Given the description of an element on the screen output the (x, y) to click on. 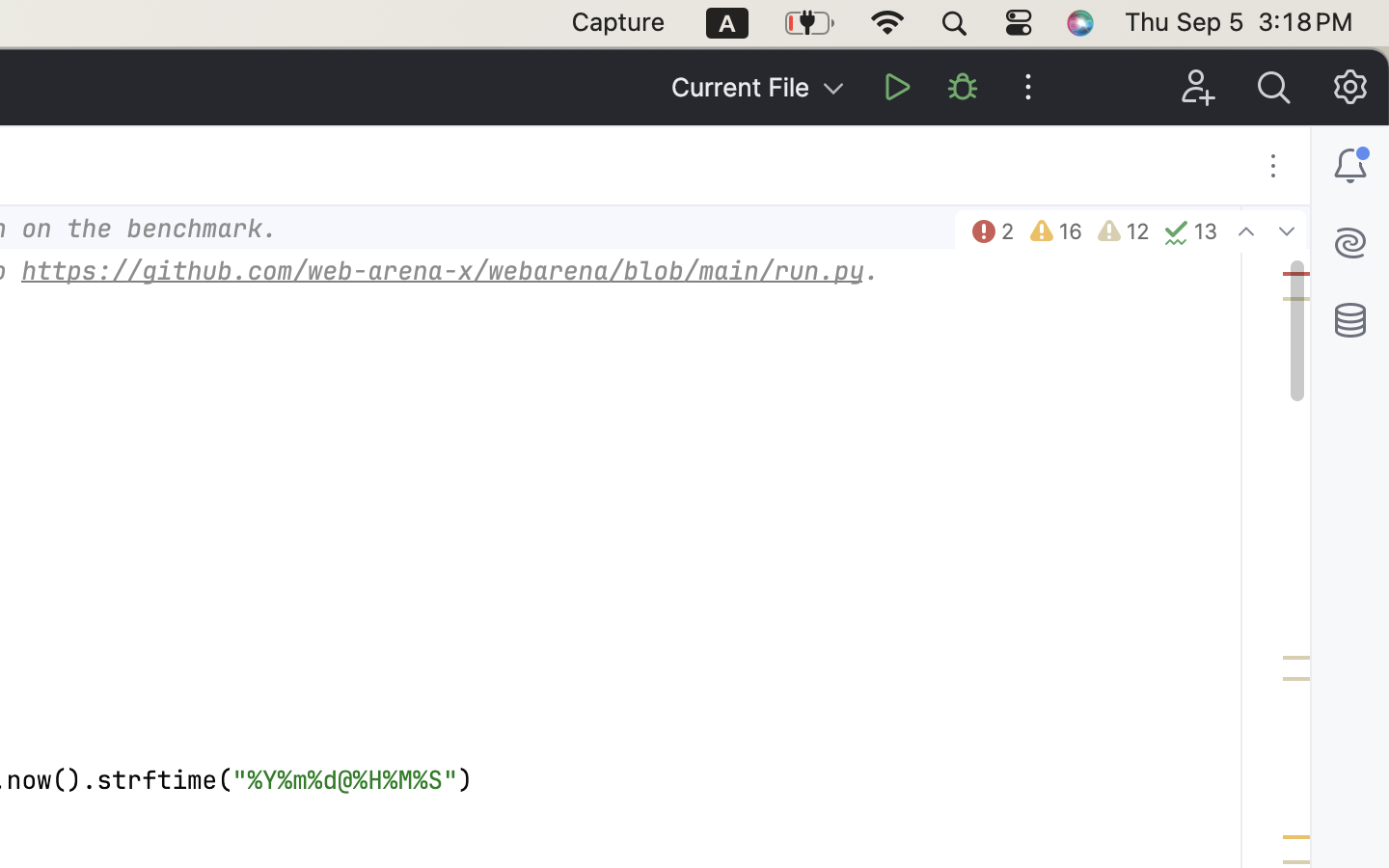
2 Element type: AXStaticText (991, 231)
